Given the description of an element on the screen output the (x, y) to click on. 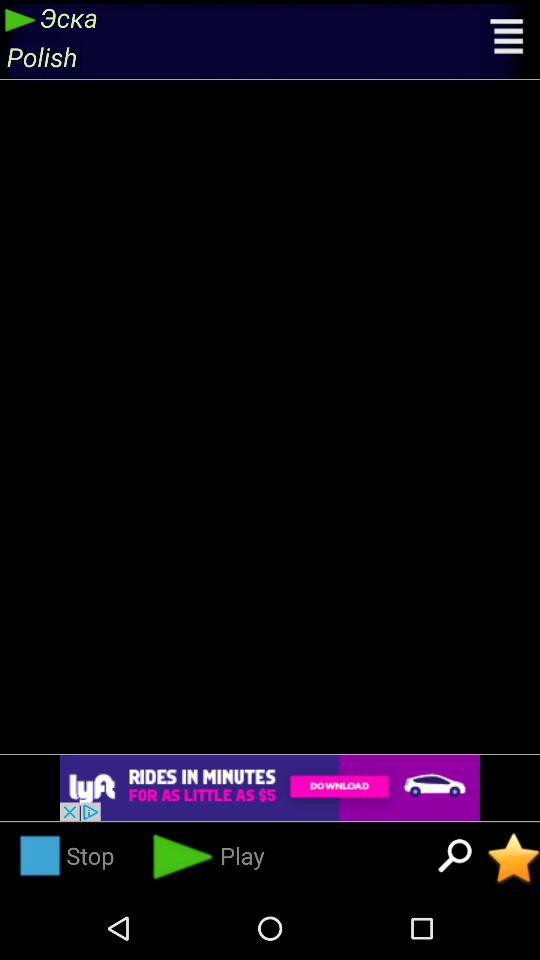
link to download lyft app (270, 787)
